Given the description of an element on the screen output the (x, y) to click on. 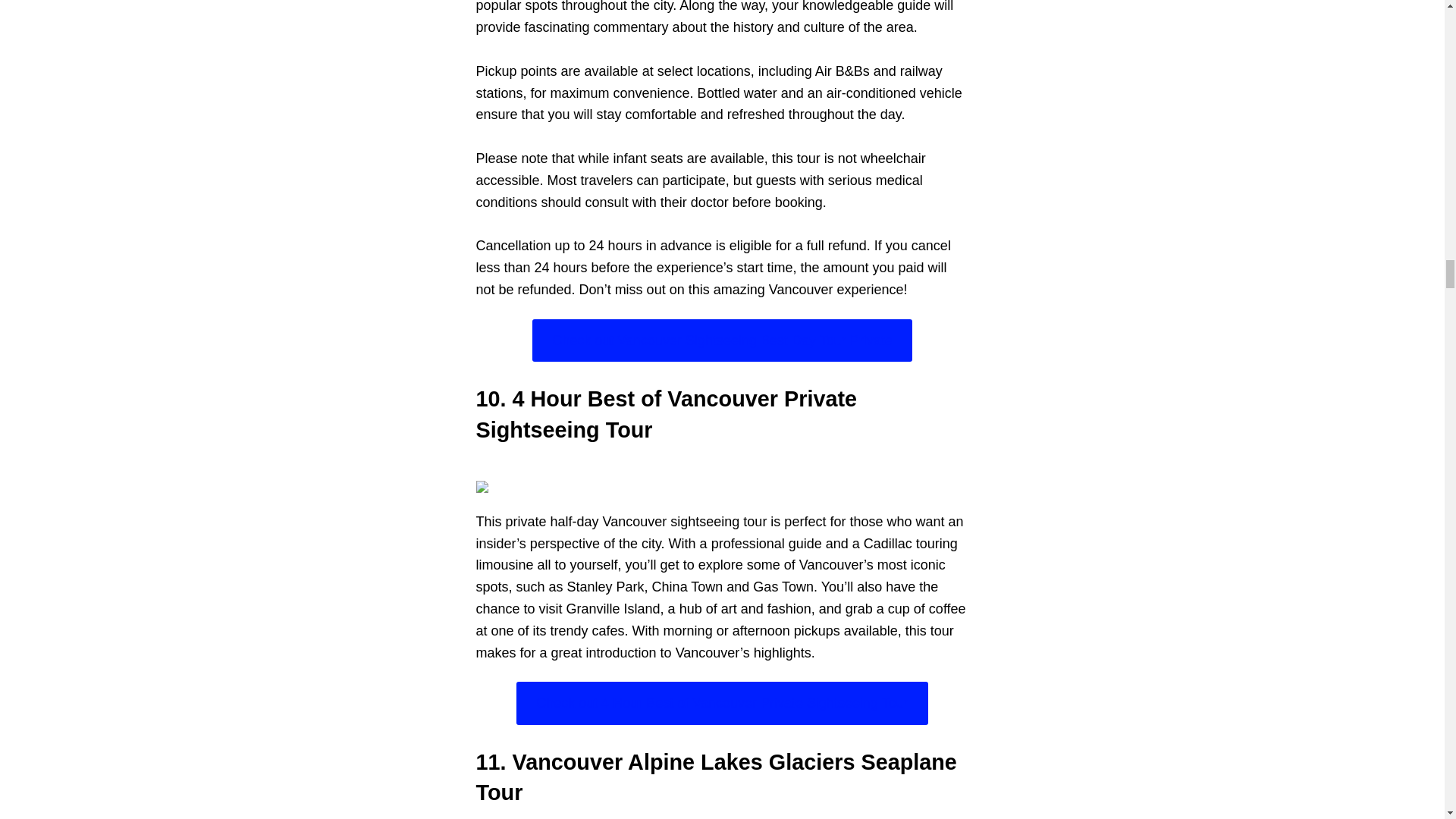
Check out 4 Hour Best of Vancouver Private Sightseeing Tour (722, 702)
Check out Vancouver Sightseeing Best Day Tour Private (722, 340)
